Given the description of an element on the screen output the (x, y) to click on. 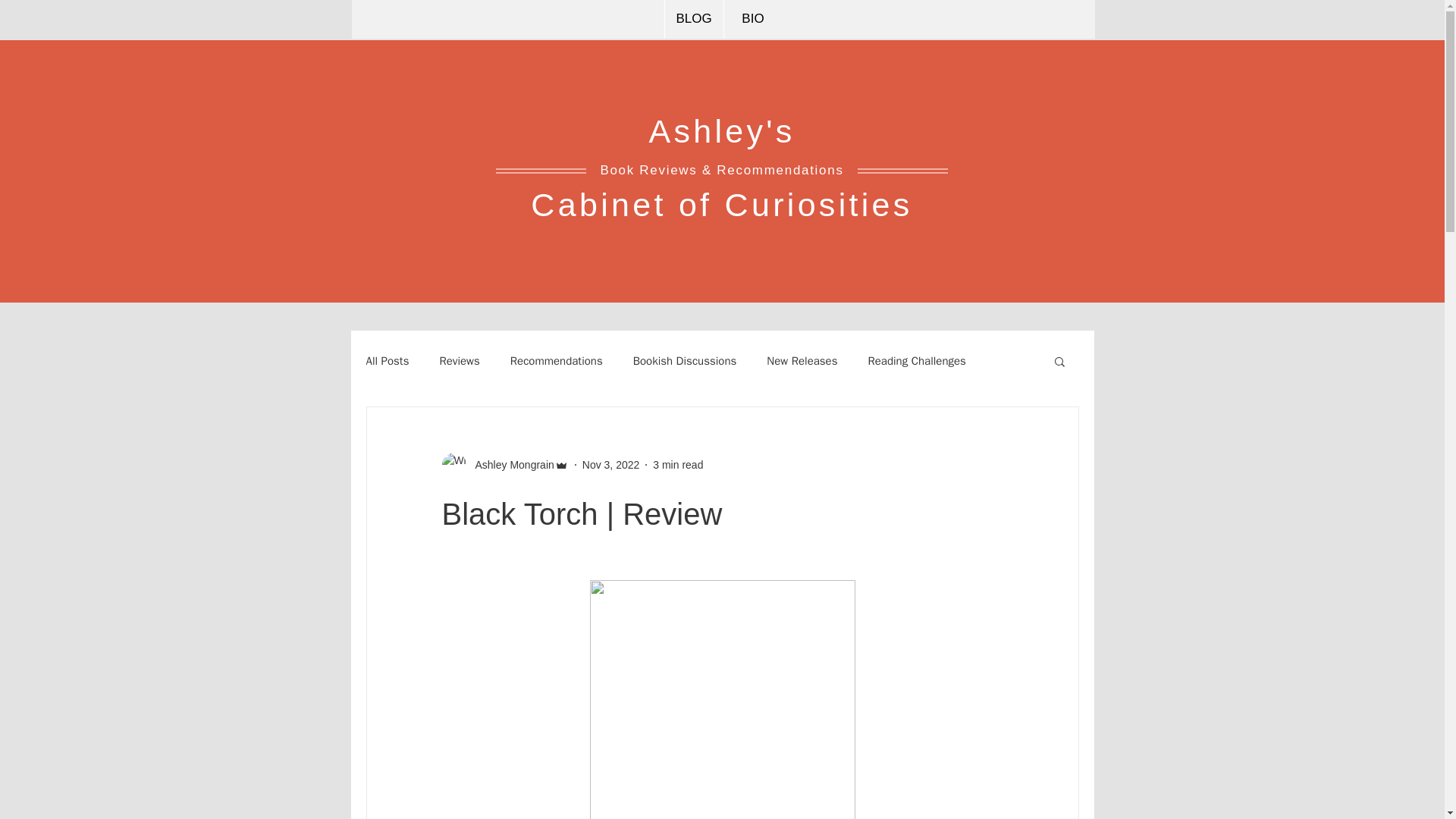
Bookish Discussions (684, 359)
Ashley Mongrain (509, 464)
Nov 3, 2022 (611, 463)
BIO (753, 19)
BLOG (693, 19)
Reading Challenges (916, 359)
3 min read (677, 463)
New Releases (802, 359)
Reviews (459, 359)
Recommendations (556, 359)
